Given the description of an element on the screen output the (x, y) to click on. 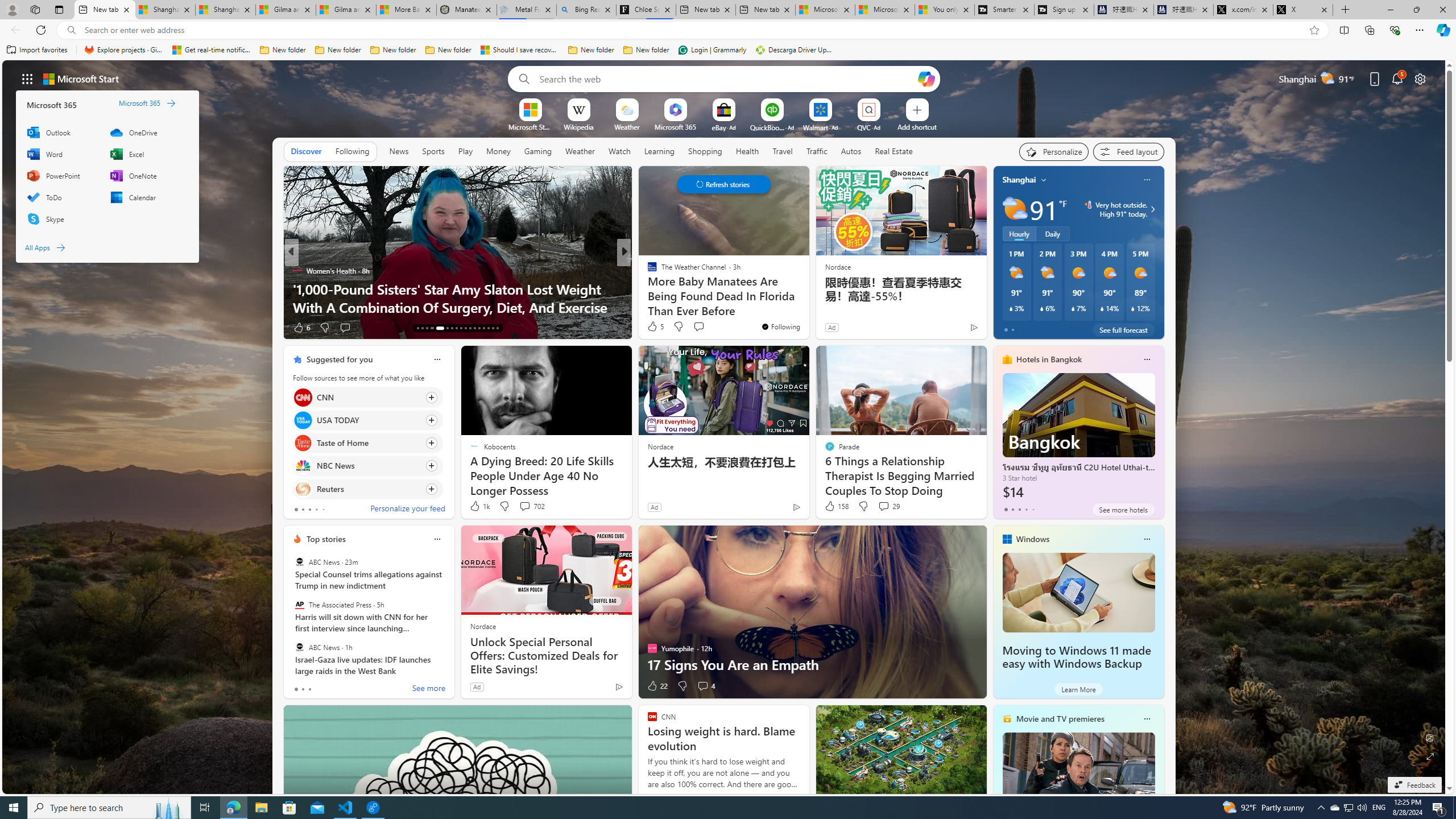
View comments 702 Comment (523, 505)
Bing Real Estate - Home sales and rental listings (586, 9)
Go to Microsoft 365 (147, 103)
Calendar (145, 197)
View comments 6 Comment (705, 327)
Hotels in Bangkok (1048, 359)
